Given the description of an element on the screen output the (x, y) to click on. 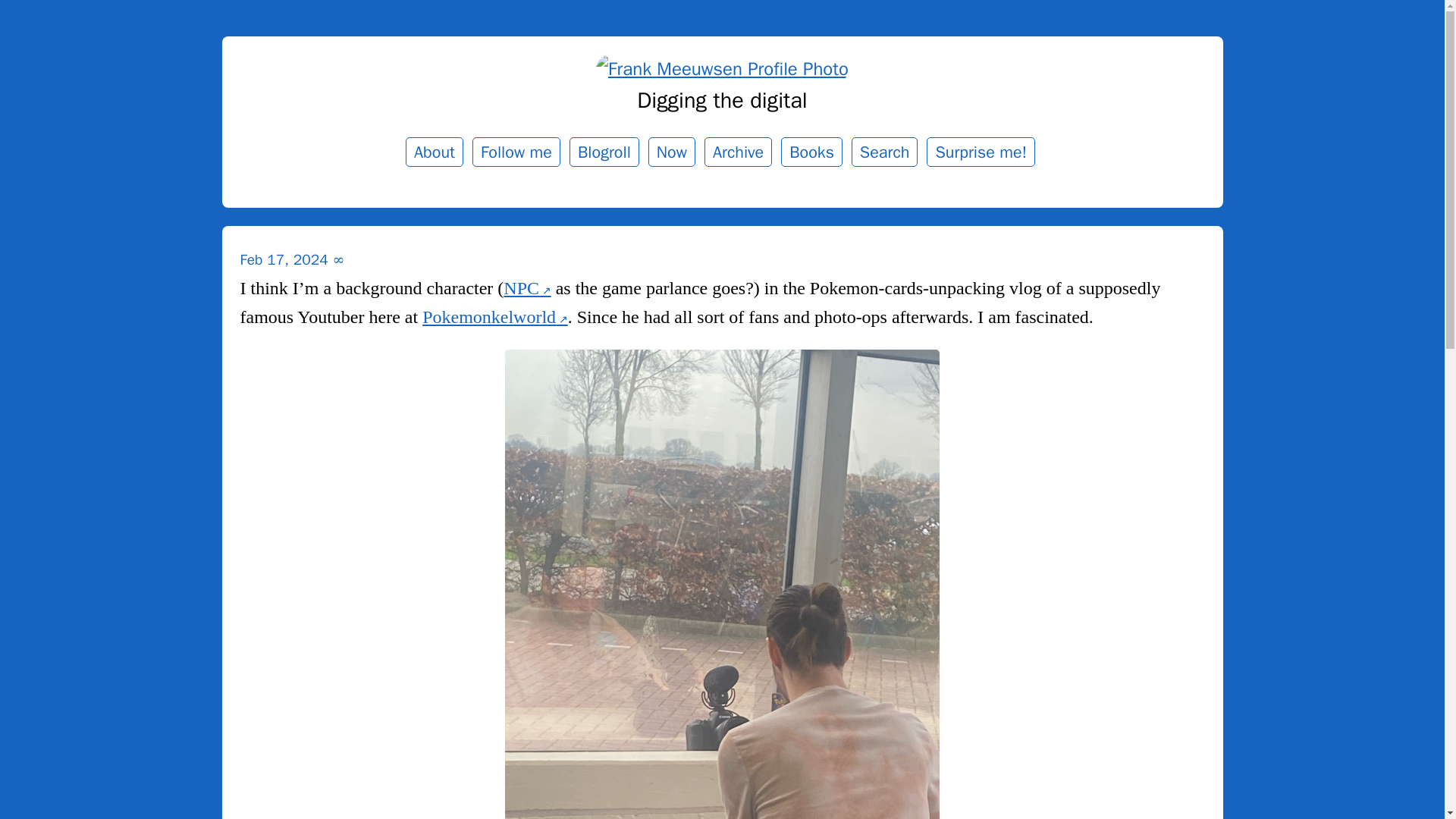
Follow me (515, 152)
NPC (526, 288)
Surprise me! (980, 152)
About (434, 152)
Pokemonkelworld (494, 316)
Archive (737, 152)
Digging the digital (721, 100)
Now (671, 152)
Search (884, 152)
Books (811, 152)
Blogroll (604, 152)
